Given the description of an element on the screen output the (x, y) to click on. 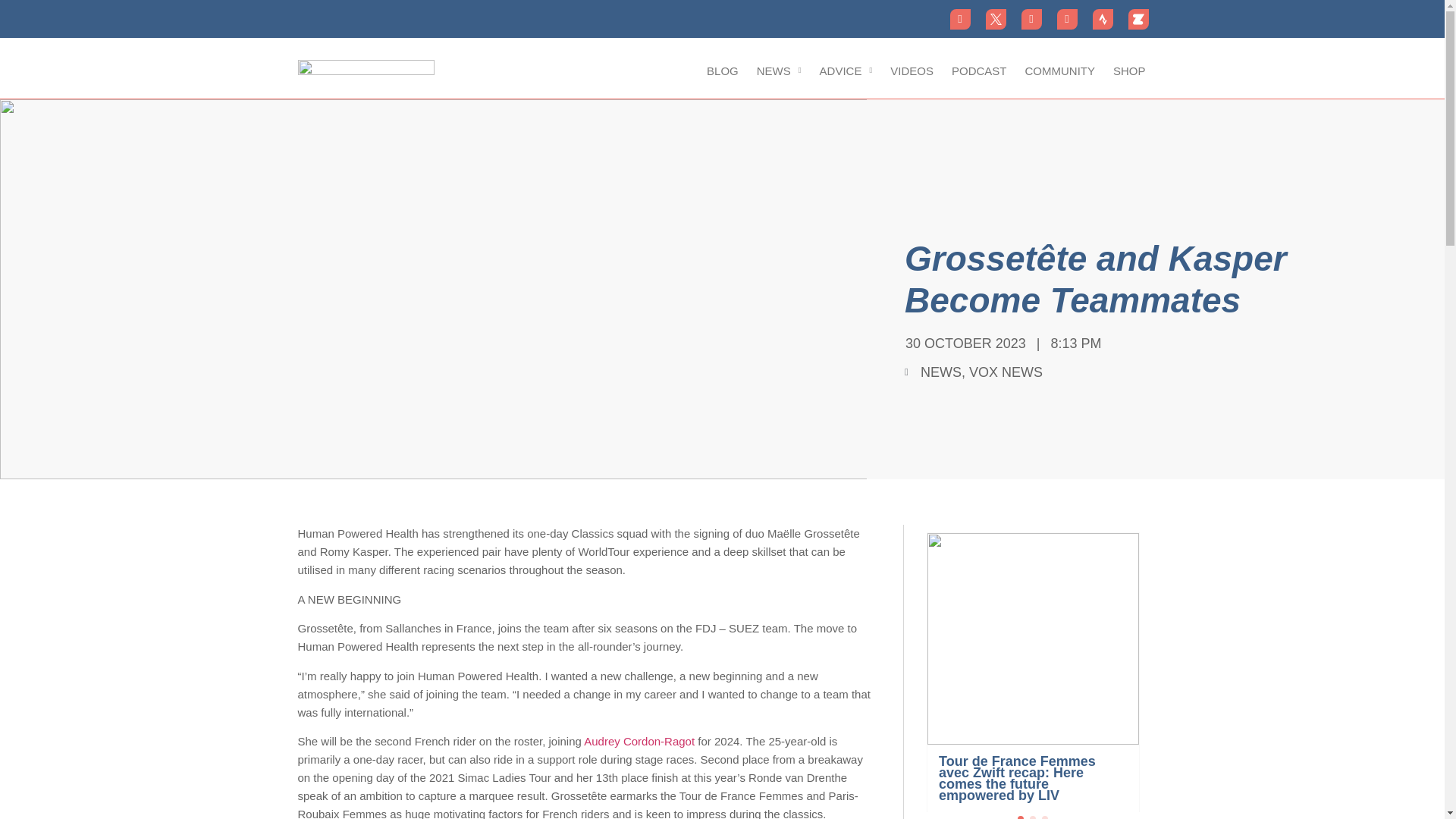
30 OCTOBER 2023 (962, 343)
NEWS (940, 372)
VIDEOS (911, 70)
COMMUNITY (1058, 70)
Audrey Cordon-Ragot (638, 740)
NEWS (779, 70)
SHOP (1128, 70)
ADVICE (846, 70)
PODCAST (979, 70)
BLOG (722, 70)
VOX NEWS (1005, 372)
